Given the description of an element on the screen output the (x, y) to click on. 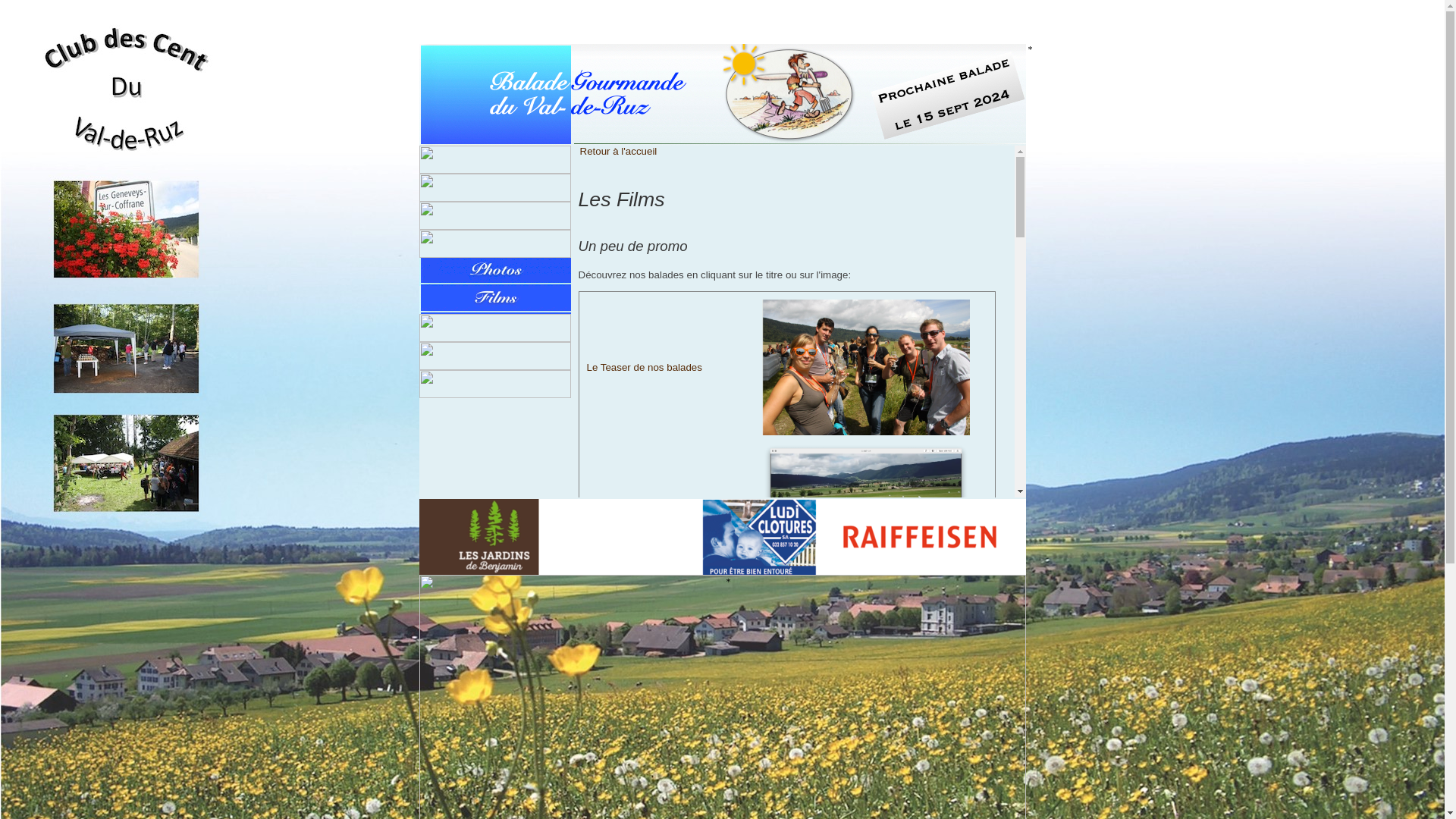
Le Teaser de nos balades Element type: text (644, 367)
Vu du ciel Element type: text (608, 507)
